Given the description of an element on the screen output the (x, y) to click on. 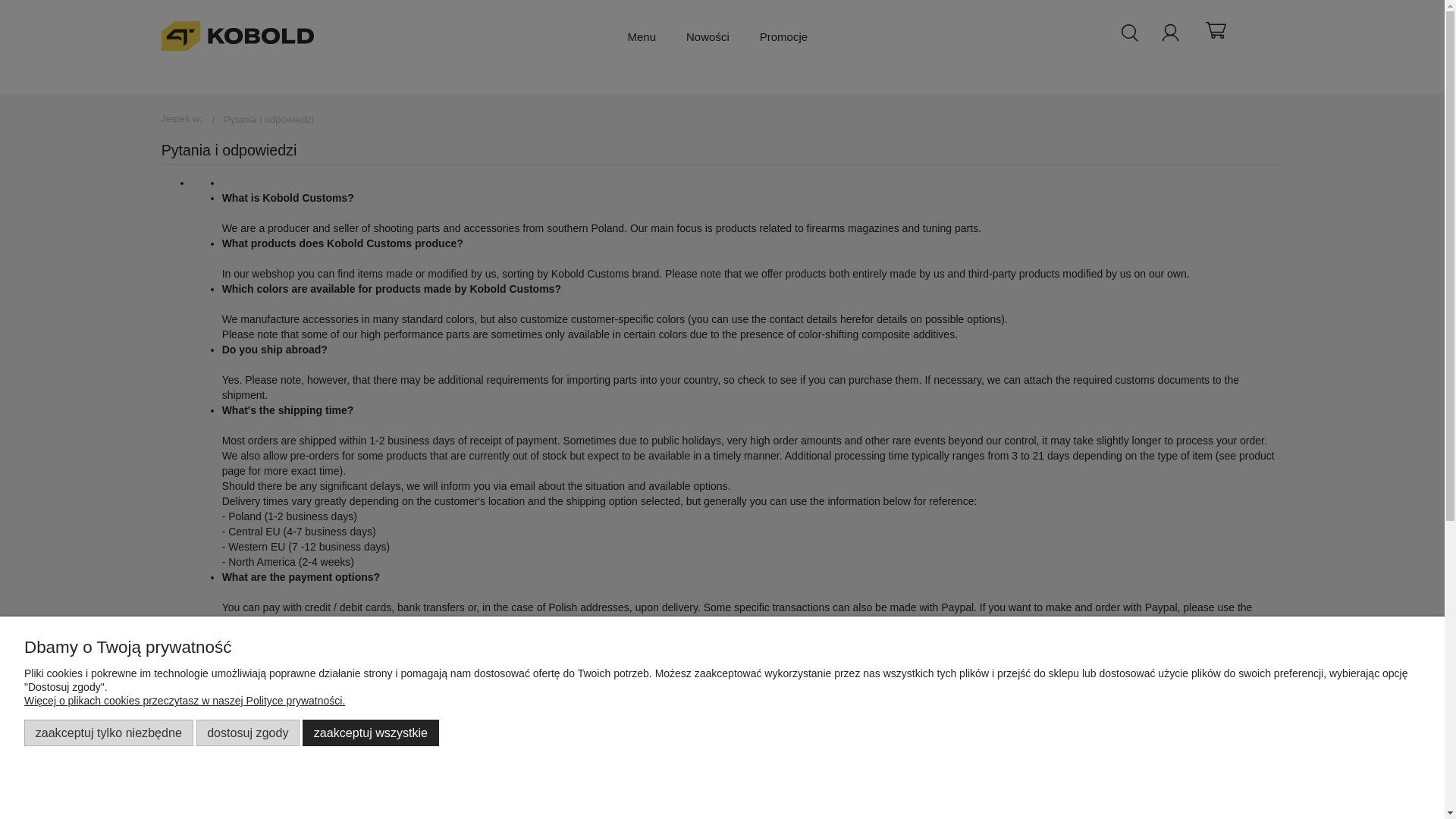
Menu (641, 36)
Menu (641, 36)
